Given the description of an element on the screen output the (x, y) to click on. 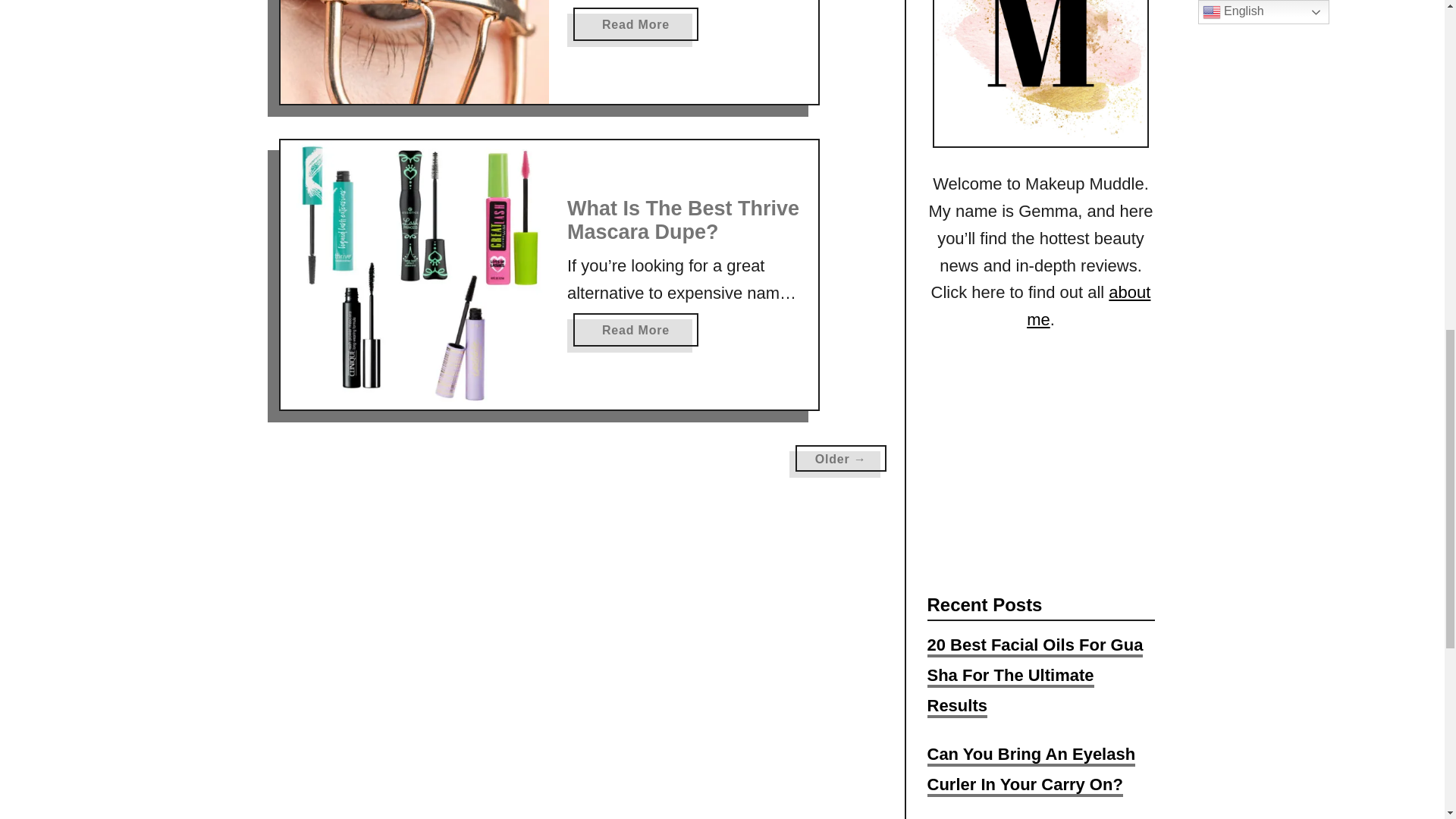
Can You Bring An Eyelash Curler In Your Carry On? (415, 52)
about me (635, 329)
Can You Bring An Eyelash Curler In Your Carry On? (1088, 305)
20 Best Facial Oils For Gua Sha For The Ultimate Results (1030, 770)
What Is The Best Thrive Mascara Dupe? (1034, 676)
What Is The Best Thrive Mascara Dupe? (415, 274)
